Given the description of an element on the screen output the (x, y) to click on. 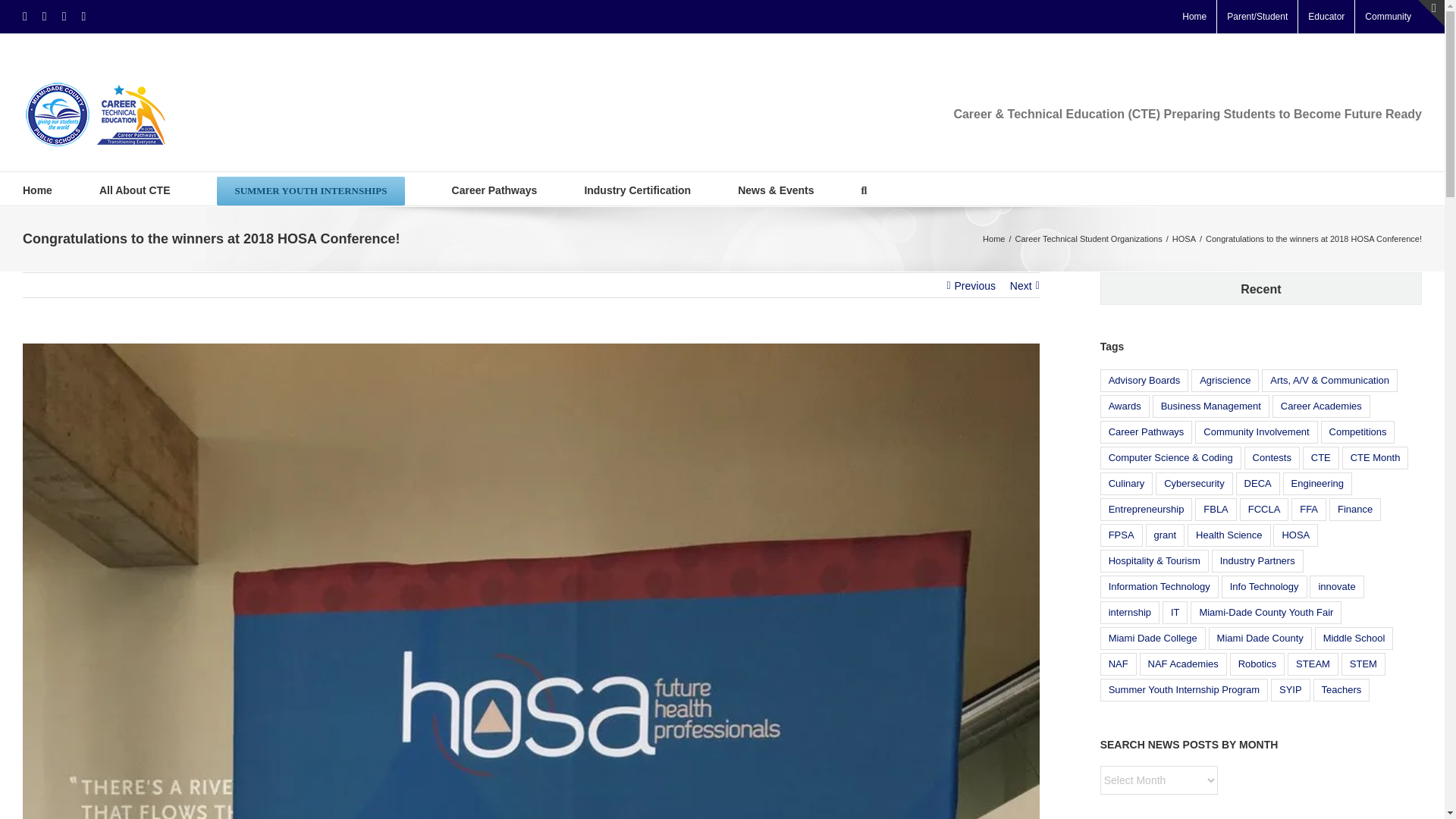
Industry Certification (636, 188)
Educator (1326, 16)
SUMMER YOUTH INTERNSHIPS (310, 188)
Community (1388, 16)
Career Pathways (494, 188)
All About CTE (134, 188)
Home (1193, 16)
